Given the description of an element on the screen output the (x, y) to click on. 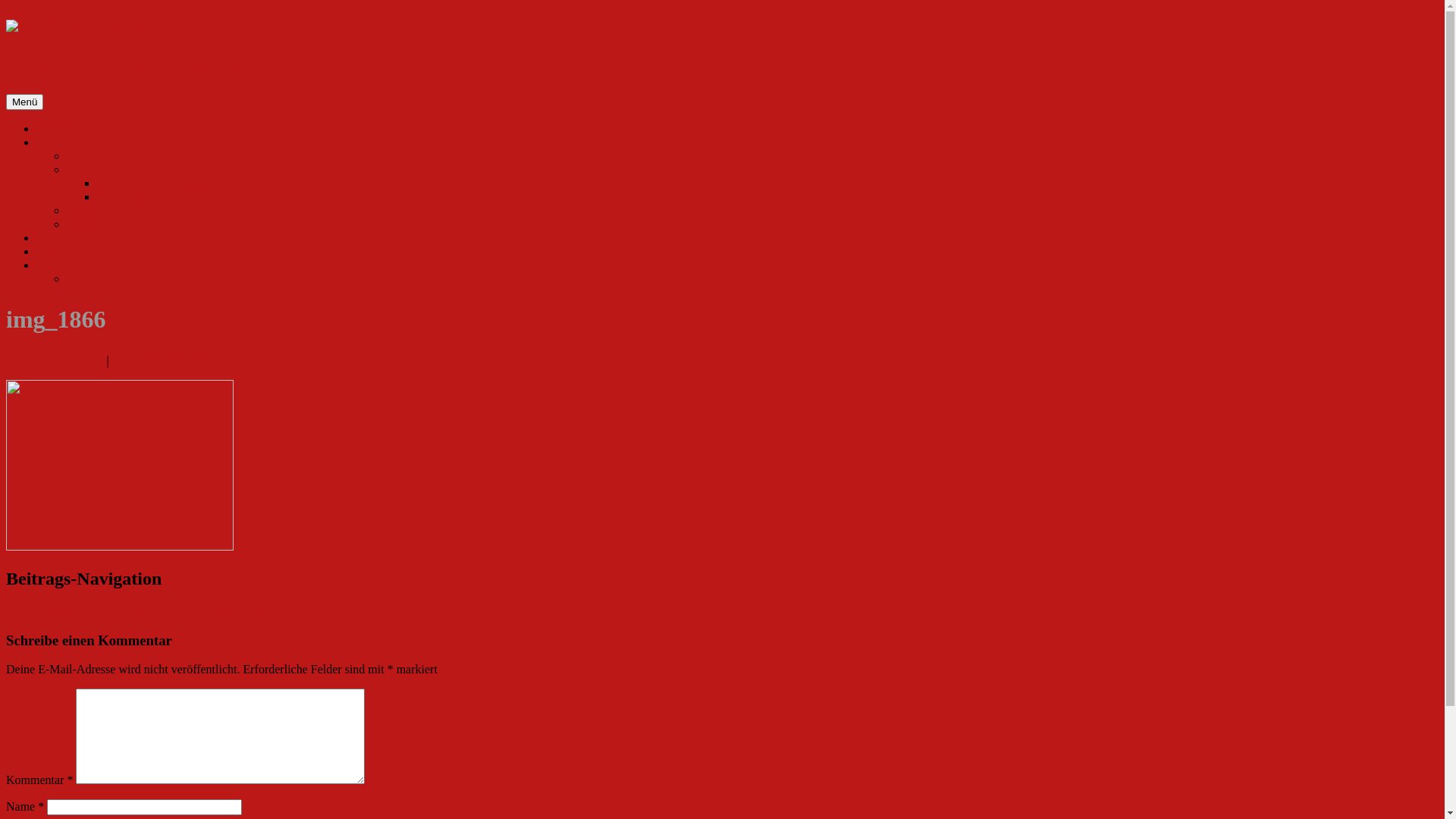
Mitgliedschaft Element type: text (101, 169)
concordeclubschweiz Element type: text (164, 360)
Kontakt Element type: text (55, 237)
Vorstand Element type: text (87, 223)
Startseite Element type: text (58, 128)
Marktplatz Element type: text (62, 250)
Aktuelle Termine Element type: text (108, 155)
Statuten Element type: text (86, 209)
Impressum Element type: text (93, 278)
Concorde Club Schweiz Element type: text (130, 62)
Springe zum Inhalt Element type: text (52, 12)
Datenschutz Element type: text (66, 264)
September 20, 2016 Element type: text (54, 360)
